Given the description of an element on the screen output the (x, y) to click on. 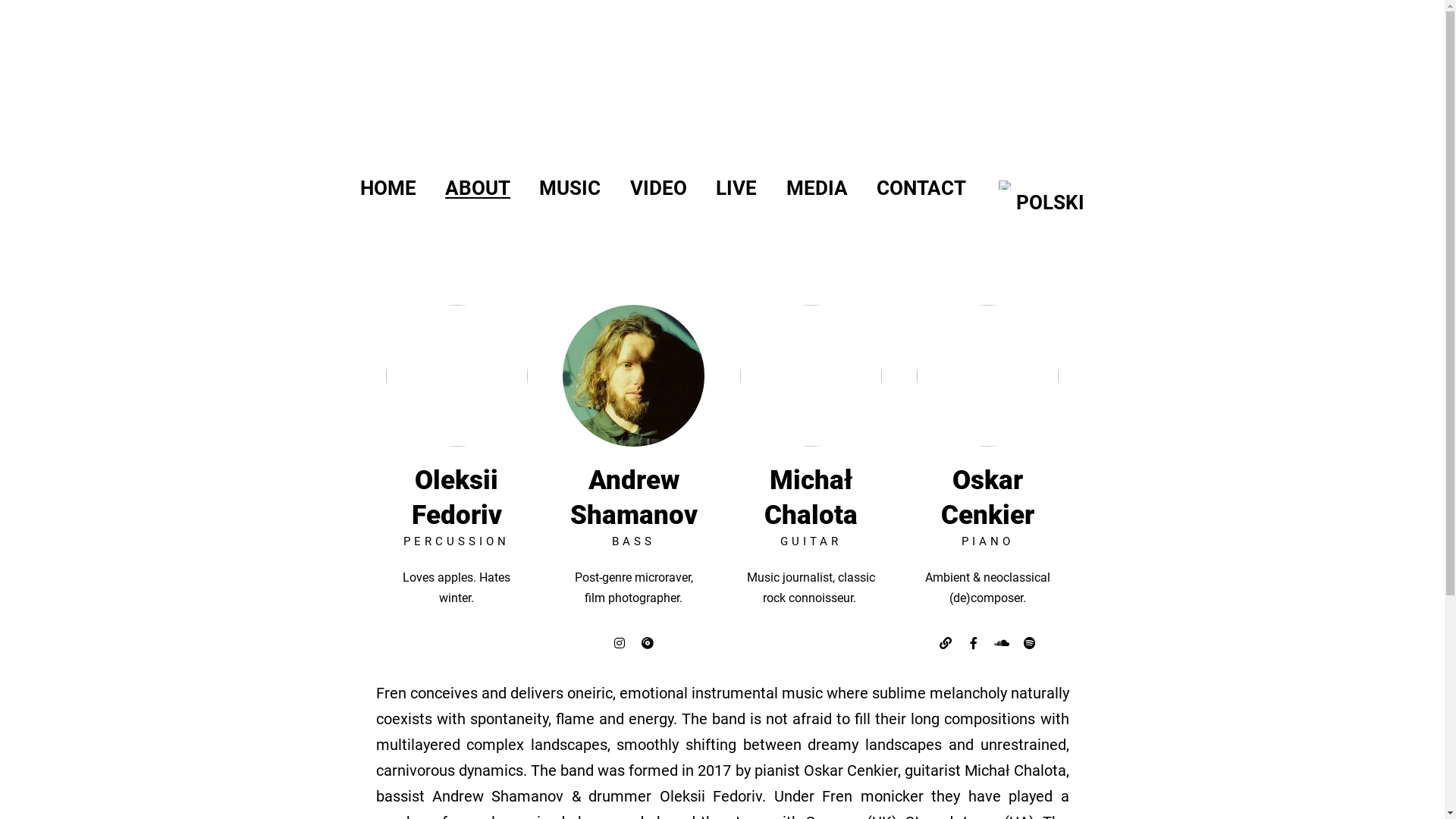
POLSKI Element type: text (1039, 194)
MEDIA Element type: text (816, 194)
LIVE Element type: text (736, 194)
MUSIC Element type: text (569, 194)
Polski Element type: hover (1005, 184)
ABOUT Element type: text (477, 194)
CONTACT Element type: text (921, 194)
HOME Element type: text (387, 194)
VIDEO Element type: text (658, 194)
